Given the description of an element on the screen output the (x, y) to click on. 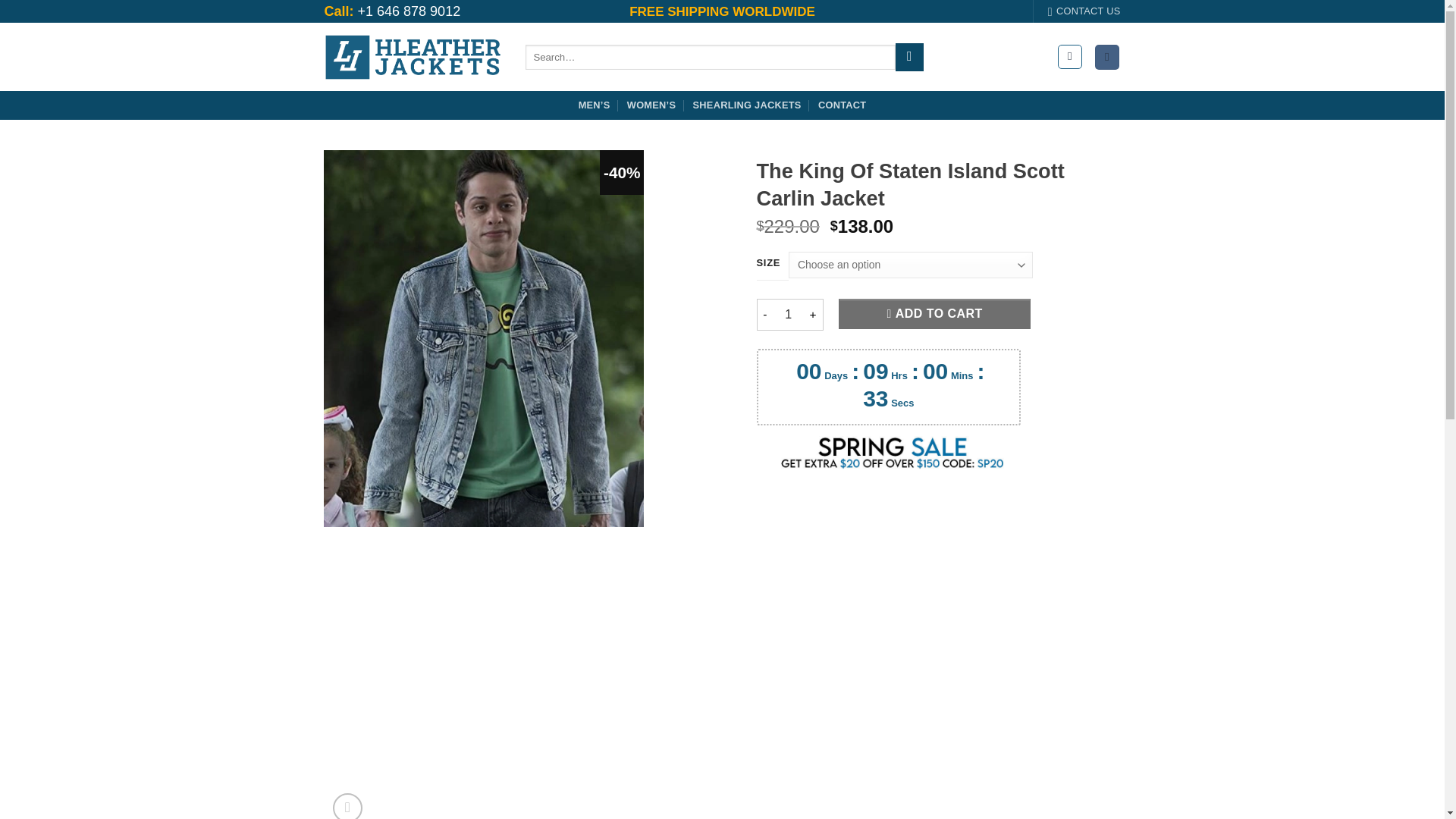
CONTACT (842, 104)
SHEARLING JACKETS (747, 104)
1 (788, 314)
CONTACT US (1084, 11)
ADD TO CART (934, 313)
Cart (1106, 57)
Hollywood Leather Jackets (413, 57)
Qty (788, 314)
Search (909, 57)
